Given the description of an element on the screen output the (x, y) to click on. 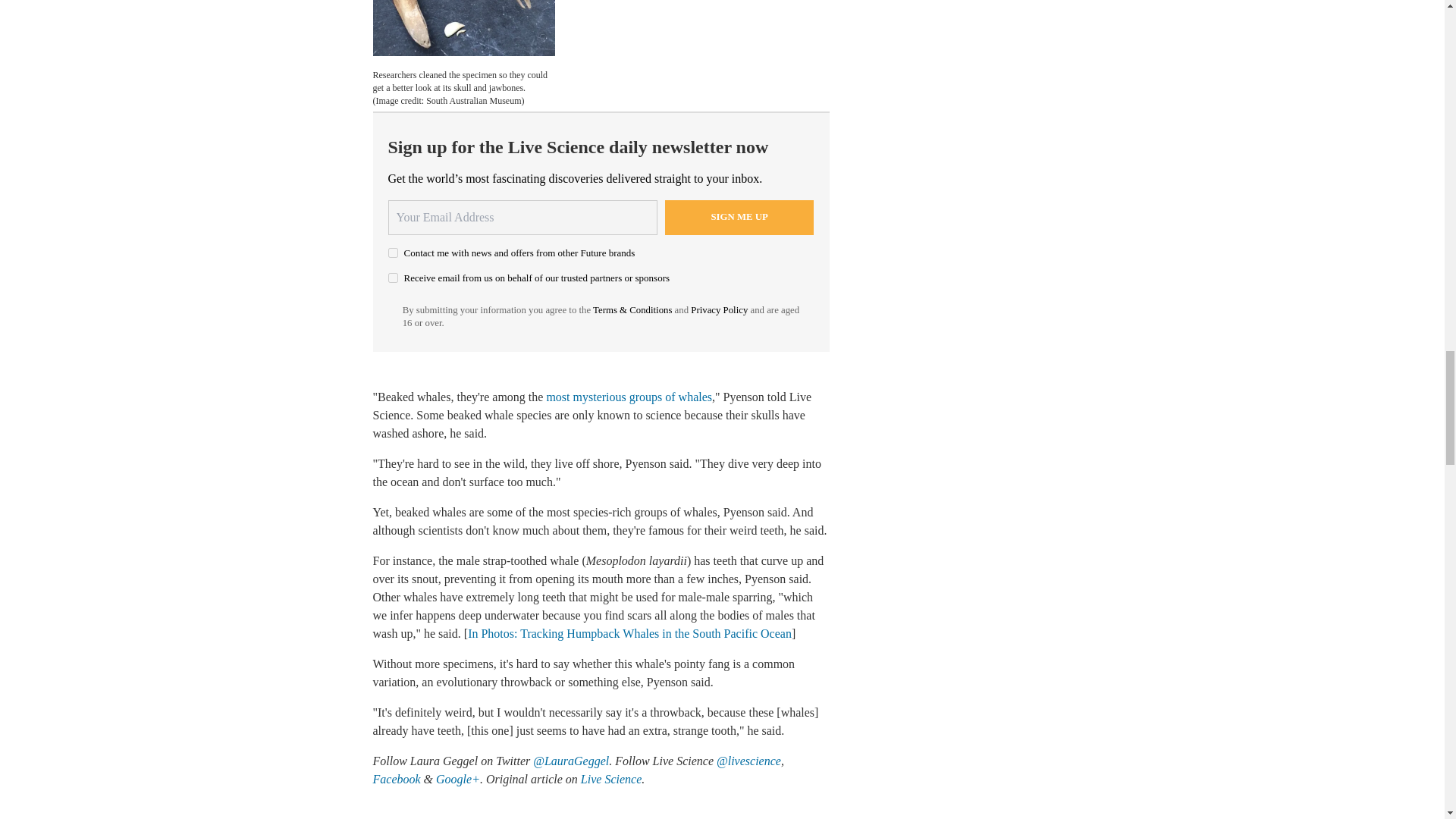
on (392, 277)
on (392, 252)
Sign me up (739, 217)
